Given the description of an element on the screen output the (x, y) to click on. 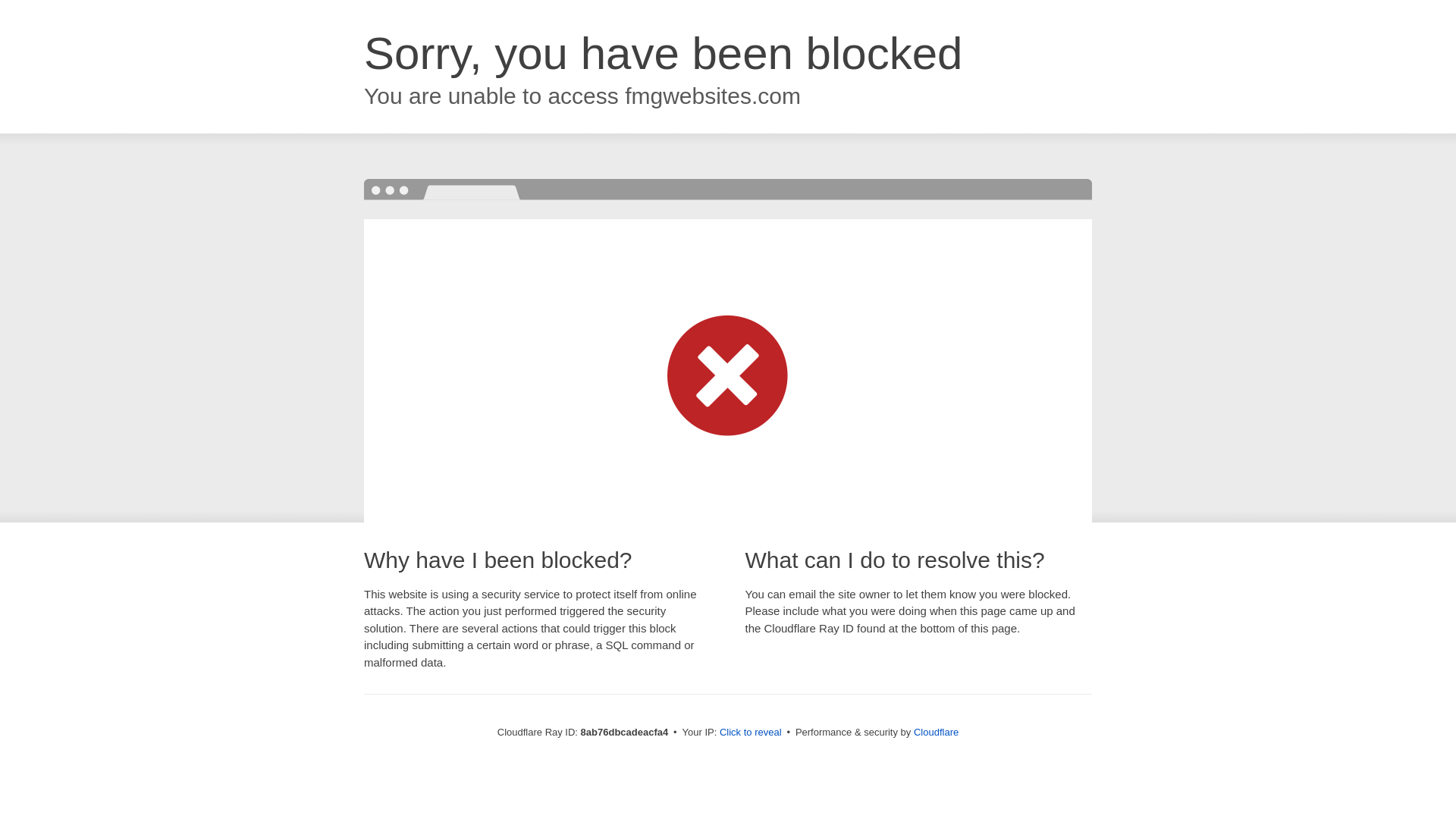
Cloudflare (936, 731)
Click to reveal (750, 732)
